Given the description of an element on the screen output the (x, y) to click on. 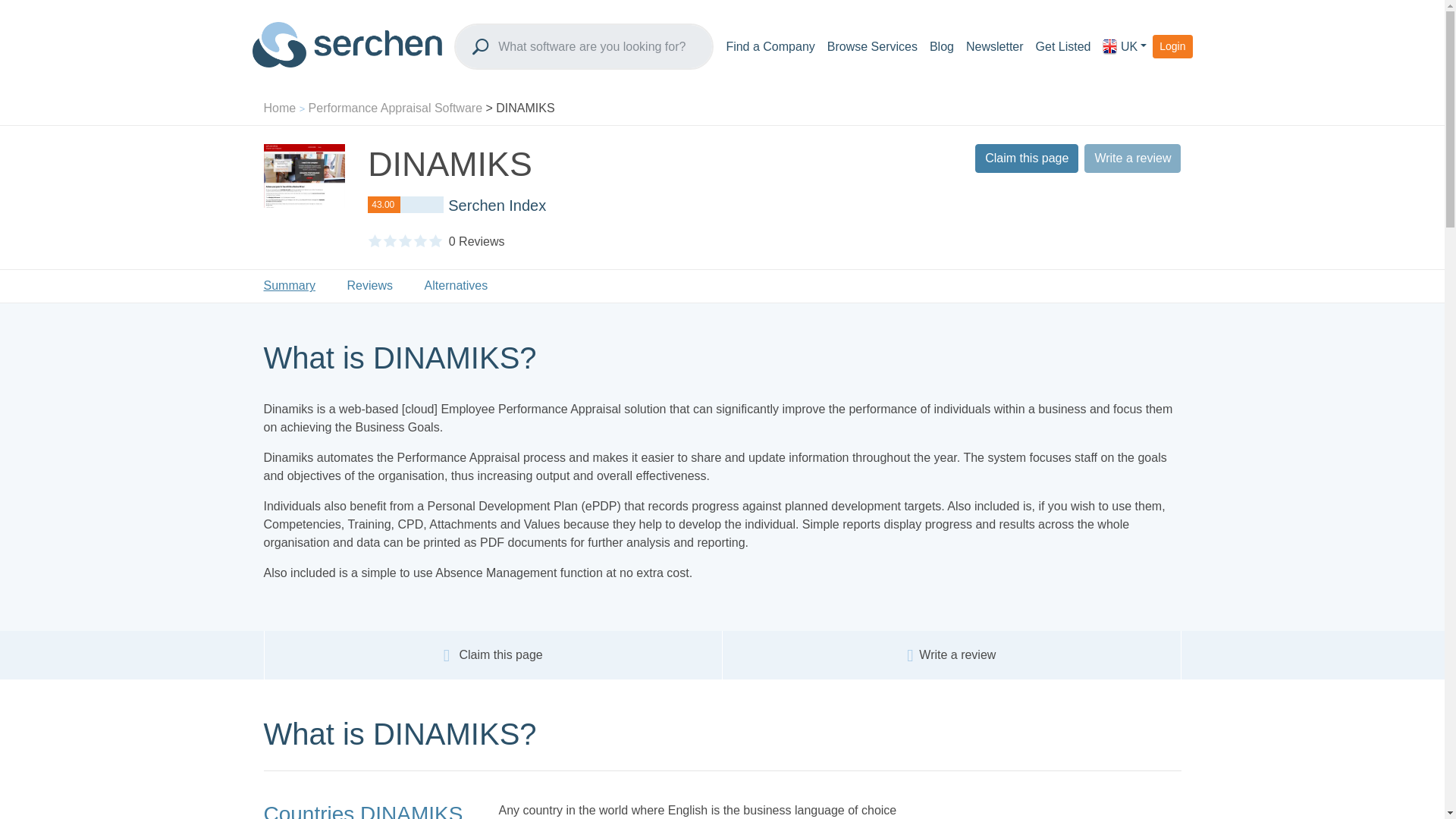
Blog (941, 46)
Write a review (1132, 158)
Summary (297, 286)
Browse Services (872, 46)
Claim this page (1026, 158)
Login (1172, 46)
Alternatives (456, 286)
Reviews (370, 286)
Newsletter (994, 46)
0 Reviews (476, 241)
Find a Company (770, 46)
Write a review (956, 654)
Home (280, 107)
UK (1124, 46)
Performance Appraisal Software (394, 107)
